Given the description of an element on the screen output the (x, y) to click on. 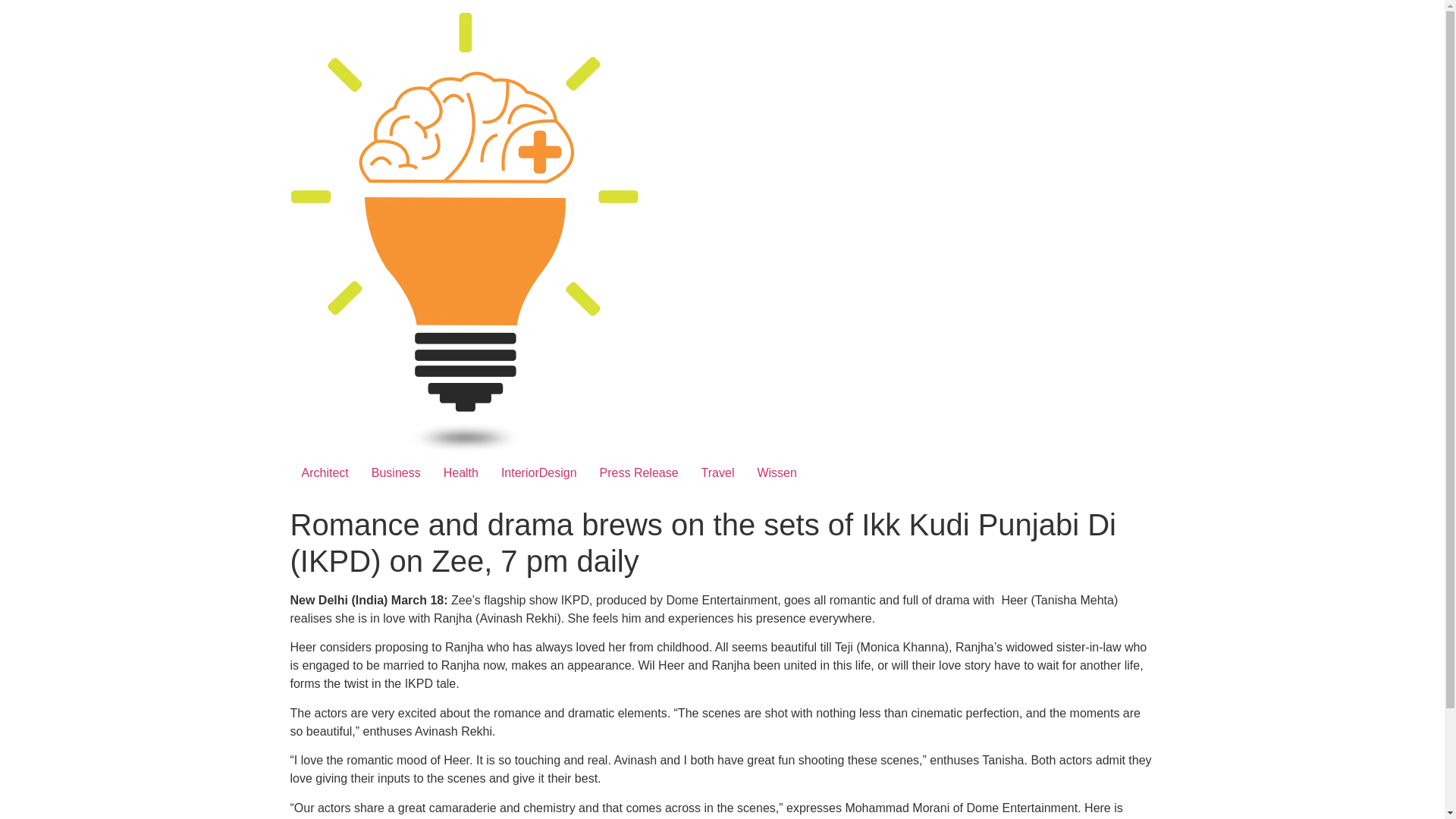
InteriorDesign (538, 472)
Wissen (776, 472)
Press Release (639, 472)
Business (395, 472)
Health (460, 472)
Travel (717, 472)
Architect (324, 472)
